Given the description of an element on the screen output the (x, y) to click on. 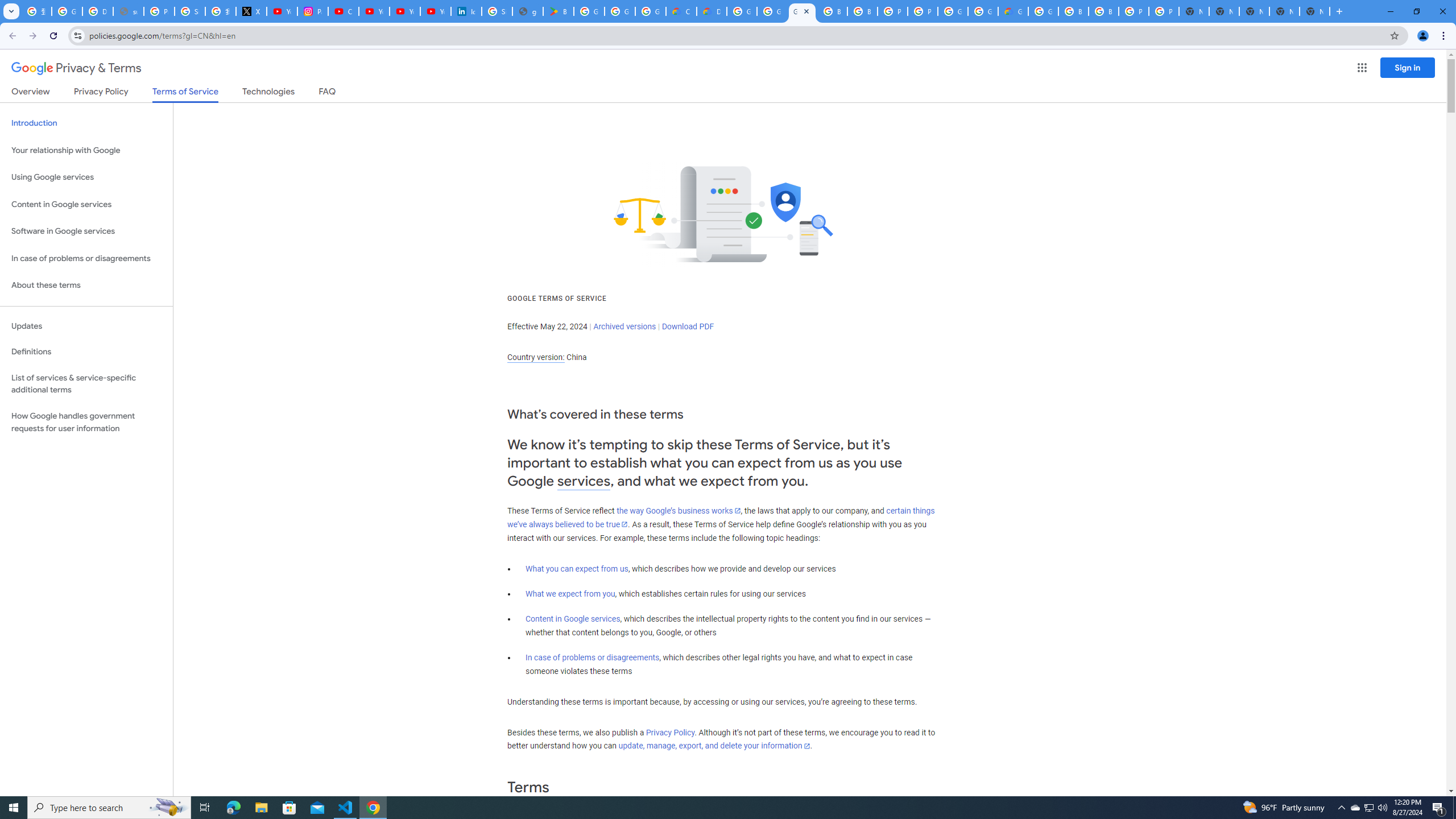
Download PDF (687, 326)
Google Cloud Platform (982, 11)
Browse Chrome as a guest - Computer - Google Chrome Help (1072, 11)
services (583, 480)
Customer Care | Google Cloud (681, 11)
Google Cloud Platform (1042, 11)
Google Cloud Platform (952, 11)
Using Google services (86, 176)
